Given the description of an element on the screen output the (x, y) to click on. 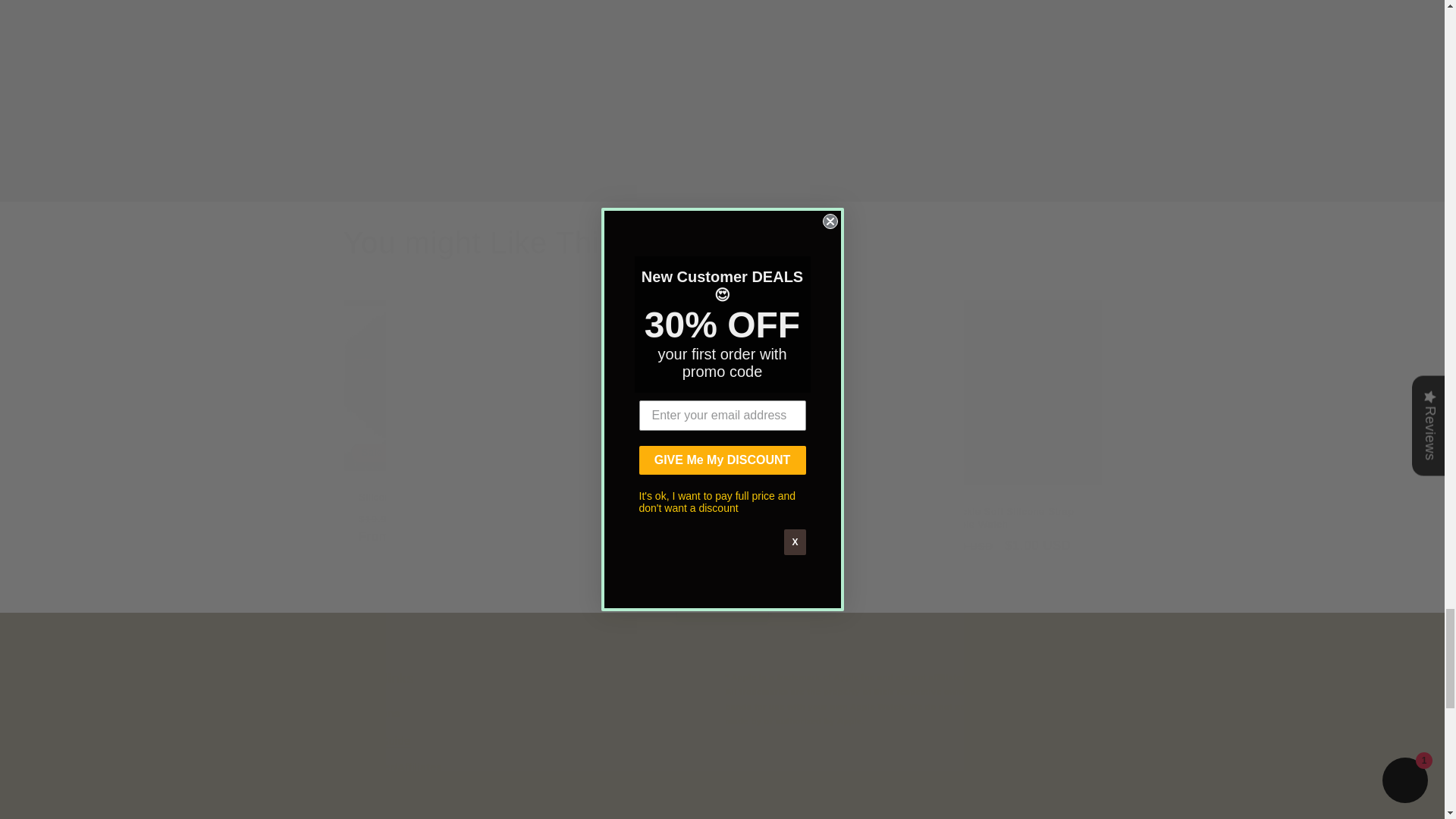
You might Like This (721, 242)
Post comment (510, 171)
